Given the description of an element on the screen output the (x, y) to click on. 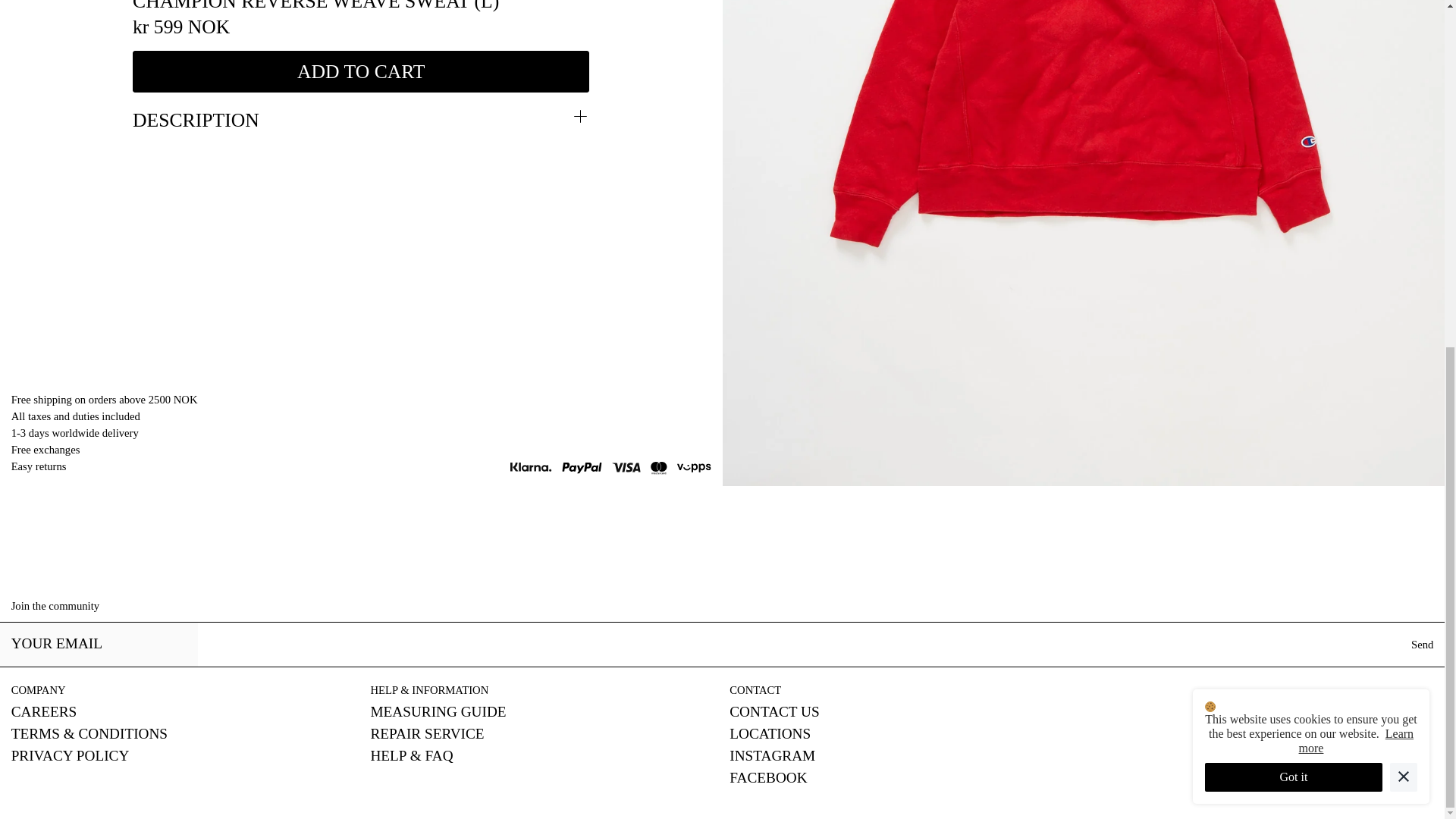
Close (952, 263)
